Given the description of an element on the screen output the (x, y) to click on. 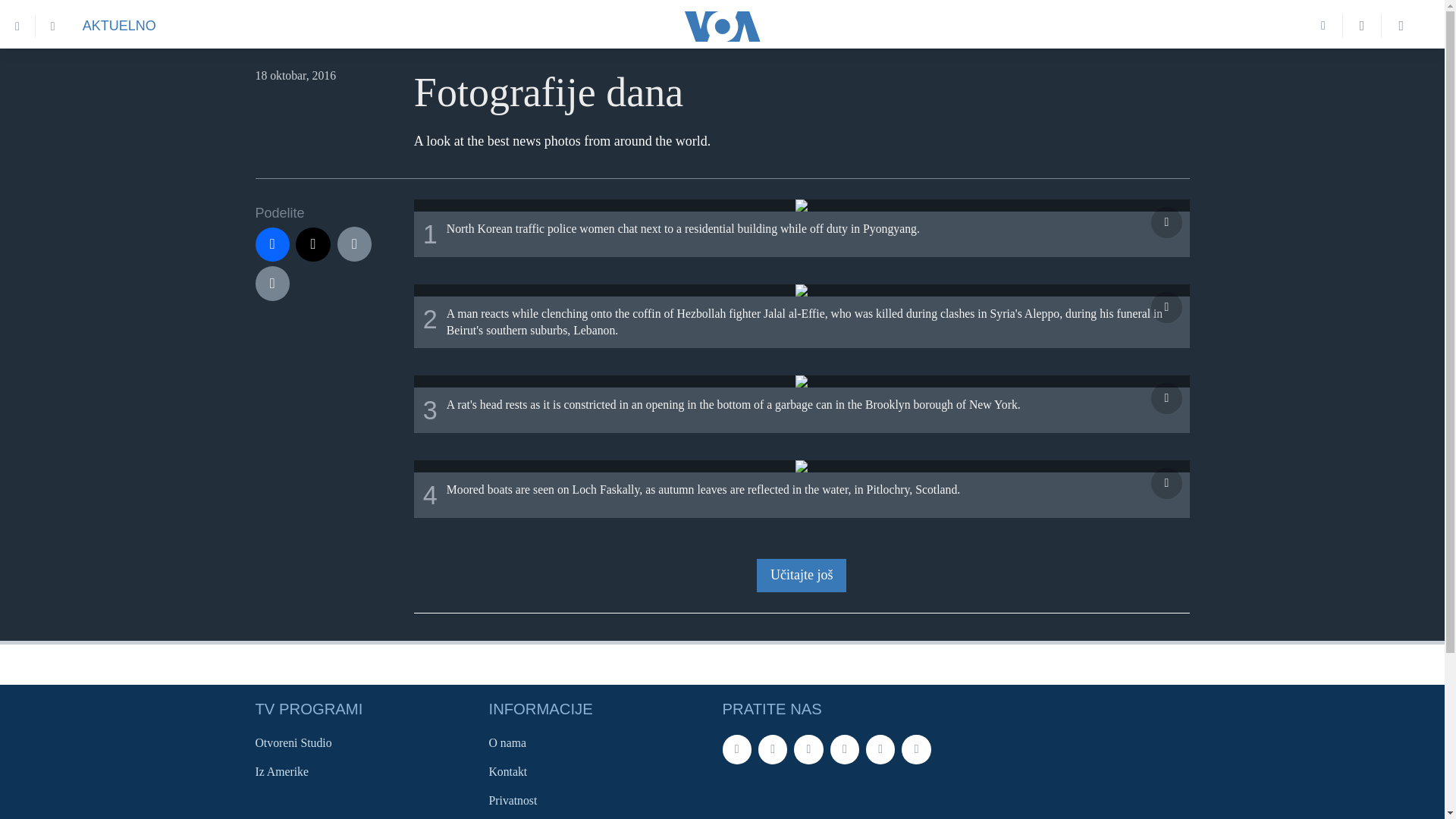
AKTUELNO (118, 26)
